Given the description of an element on the screen output the (x, y) to click on. 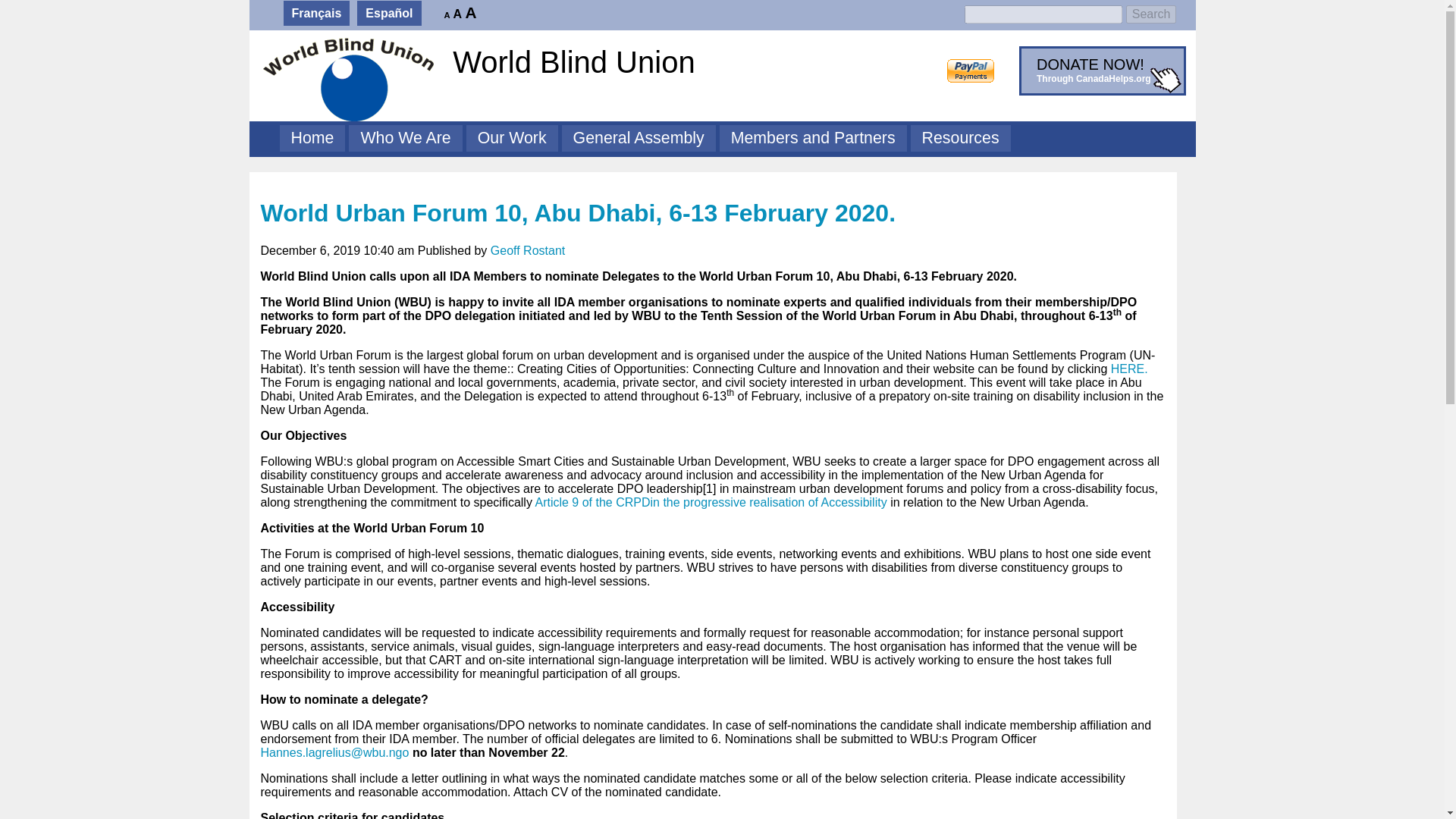
World Blind Union (606, 62)
HERE. (1097, 71)
Who We Are (1129, 368)
Posts by Geoff Rostant (405, 138)
Geoff Rostant (527, 250)
World Urban Forum 10, Abu Dhabi, 6-13 February 2020. (527, 250)
Search (578, 212)
Members and Partners (1150, 13)
Our Work (813, 138)
Home (511, 138)
World Urban Forum 10, Abu Dhabi, 6-13 February 2020. (312, 138)
General Assembly (578, 212)
Resources (639, 138)
